Given the description of an element on the screen output the (x, y) to click on. 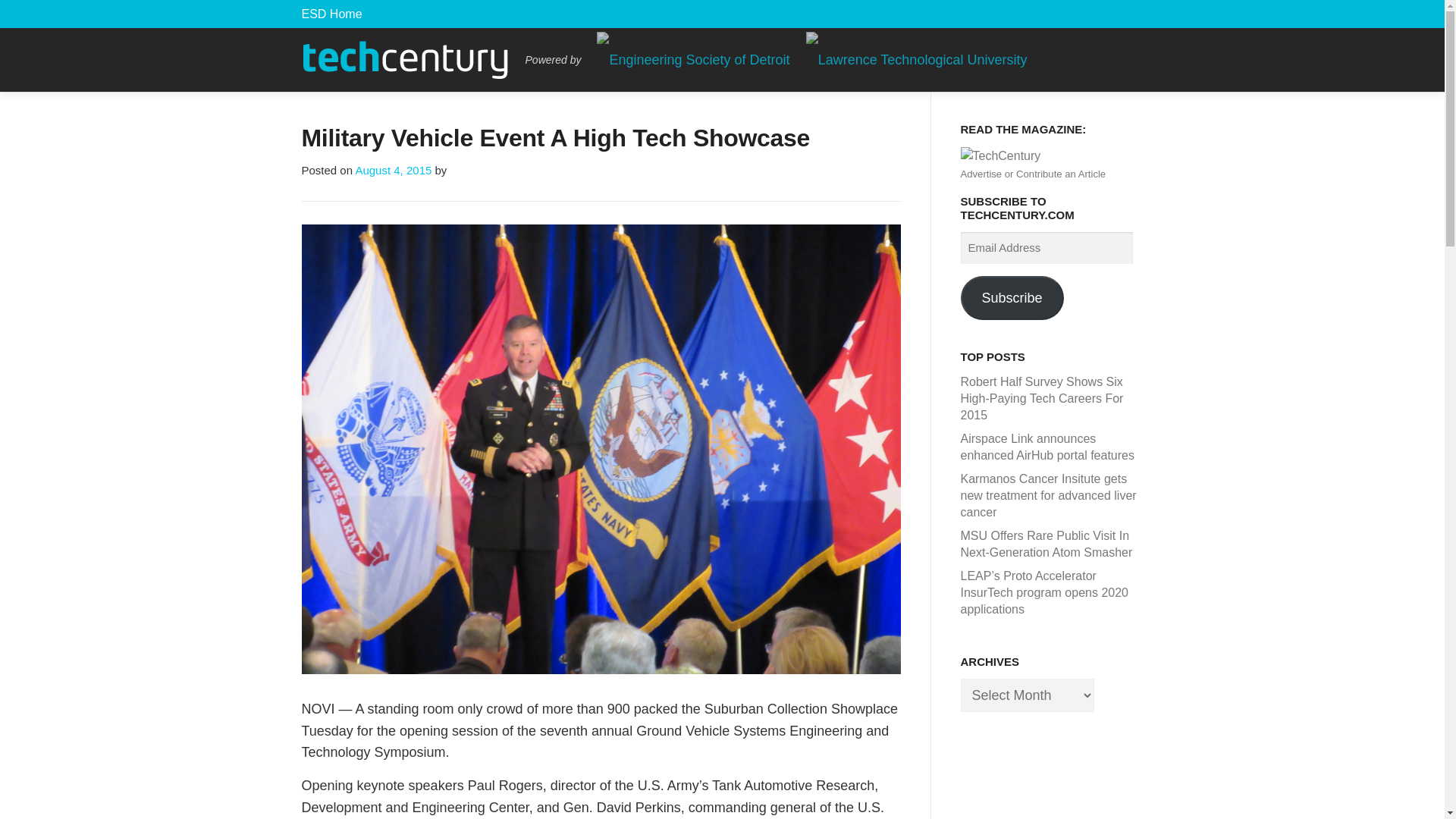
ESD Home (331, 13)
Subscribe (1010, 298)
Airspace Link announces enhanced AirHub portal features (1046, 446)
August 4, 2015 (392, 169)
Engineering Society of Detroit (331, 13)
MSU Offers Rare Public Visit In Next-Generation Atom Smasher (1045, 543)
Advertise or Contribute an Article (1032, 173)
